Given the description of an element on the screen output the (x, y) to click on. 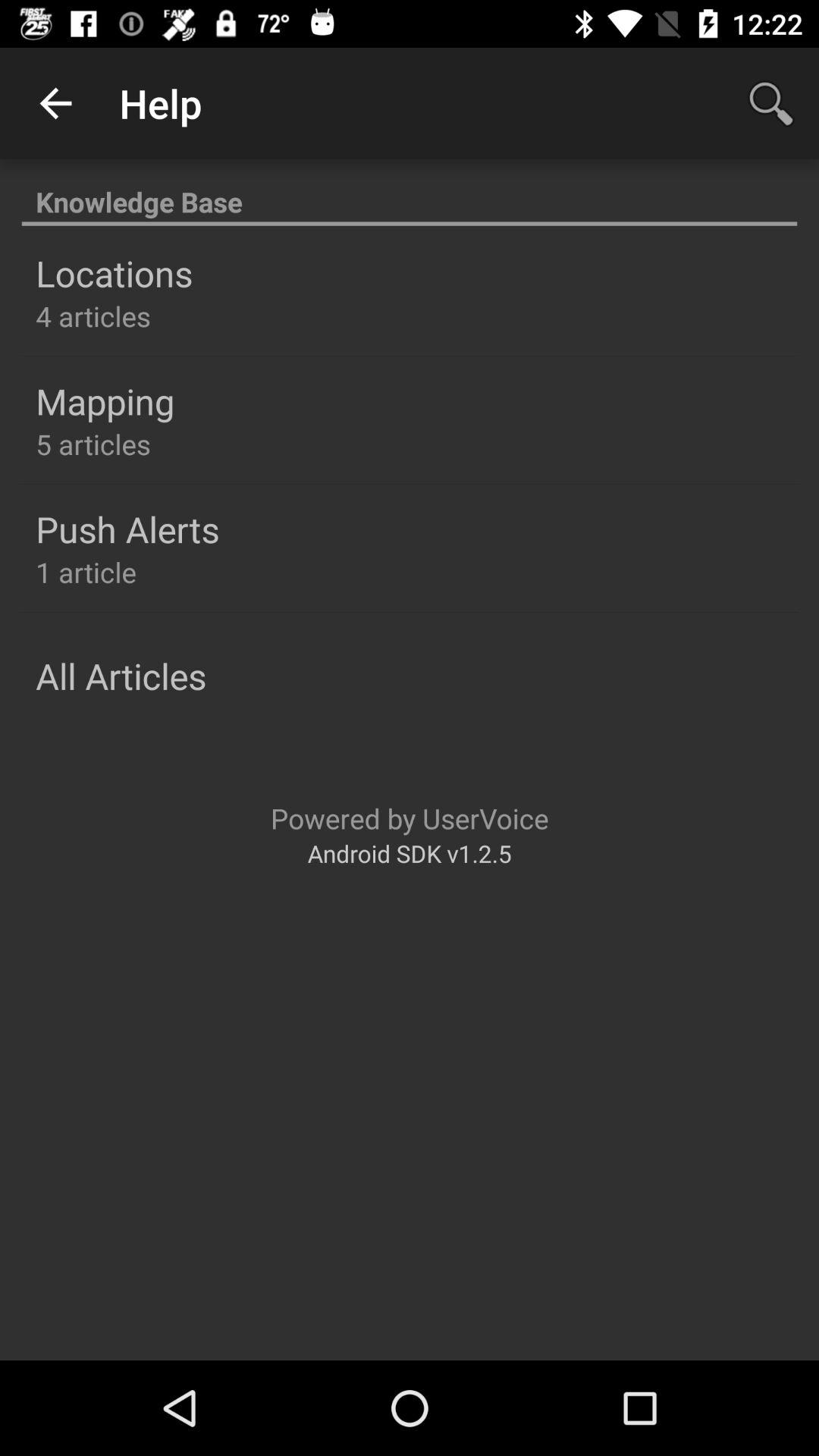
flip to all articles icon (120, 675)
